Given the description of an element on the screen output the (x, y) to click on. 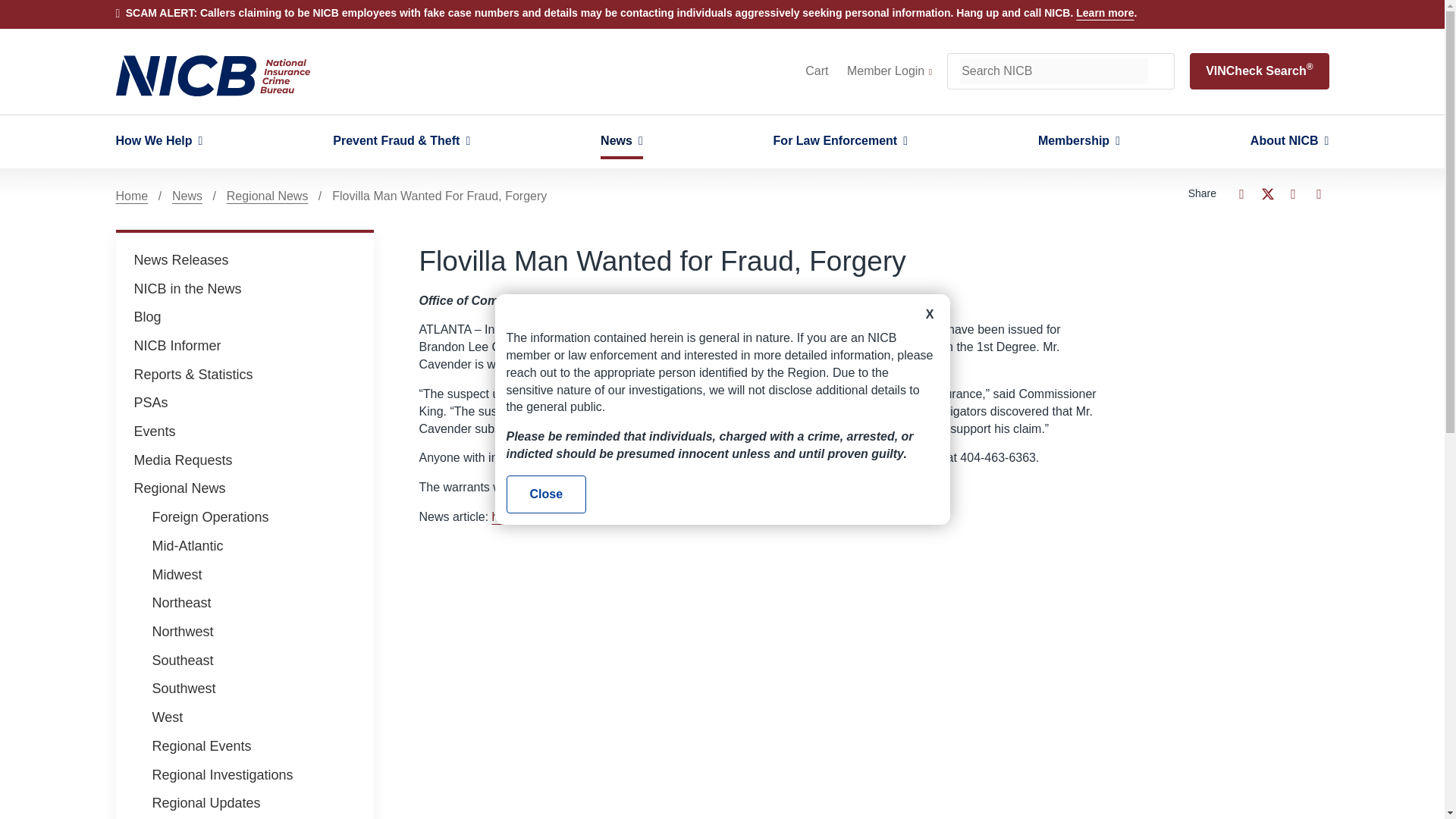
Member Login (889, 71)
How We Help (158, 141)
Enter the terms you wish to search for. (1053, 71)
Learn more (1104, 12)
Search (1160, 71)
Cart (816, 71)
